Given the description of an element on the screen output the (x, y) to click on. 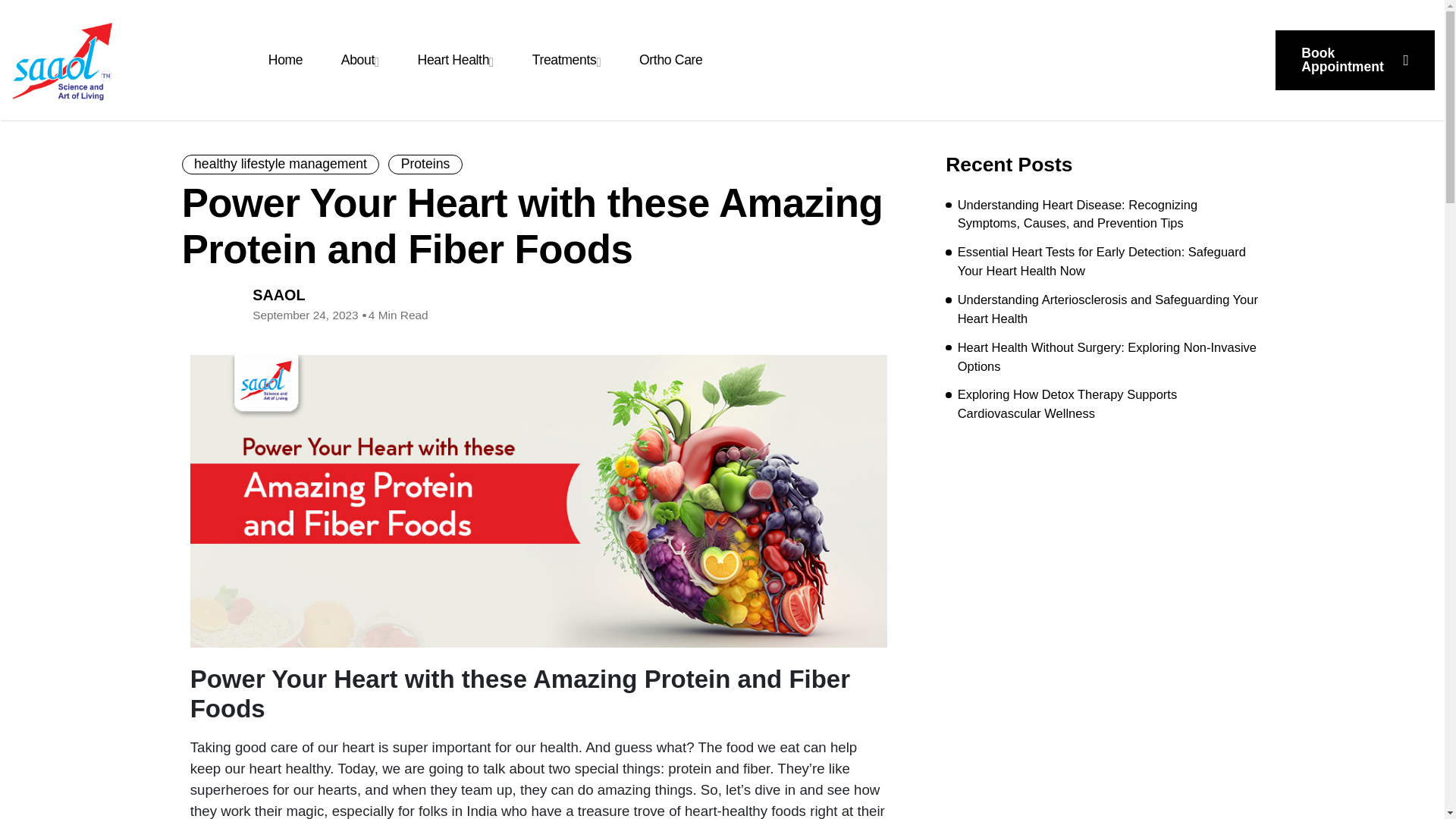
Treatments (514, 54)
Home (259, 54)
Ortho Care (607, 54)
Heart Health (414, 54)
Book Appointment (1230, 54)
About (327, 54)
